Given the description of an element on the screen output the (x, y) to click on. 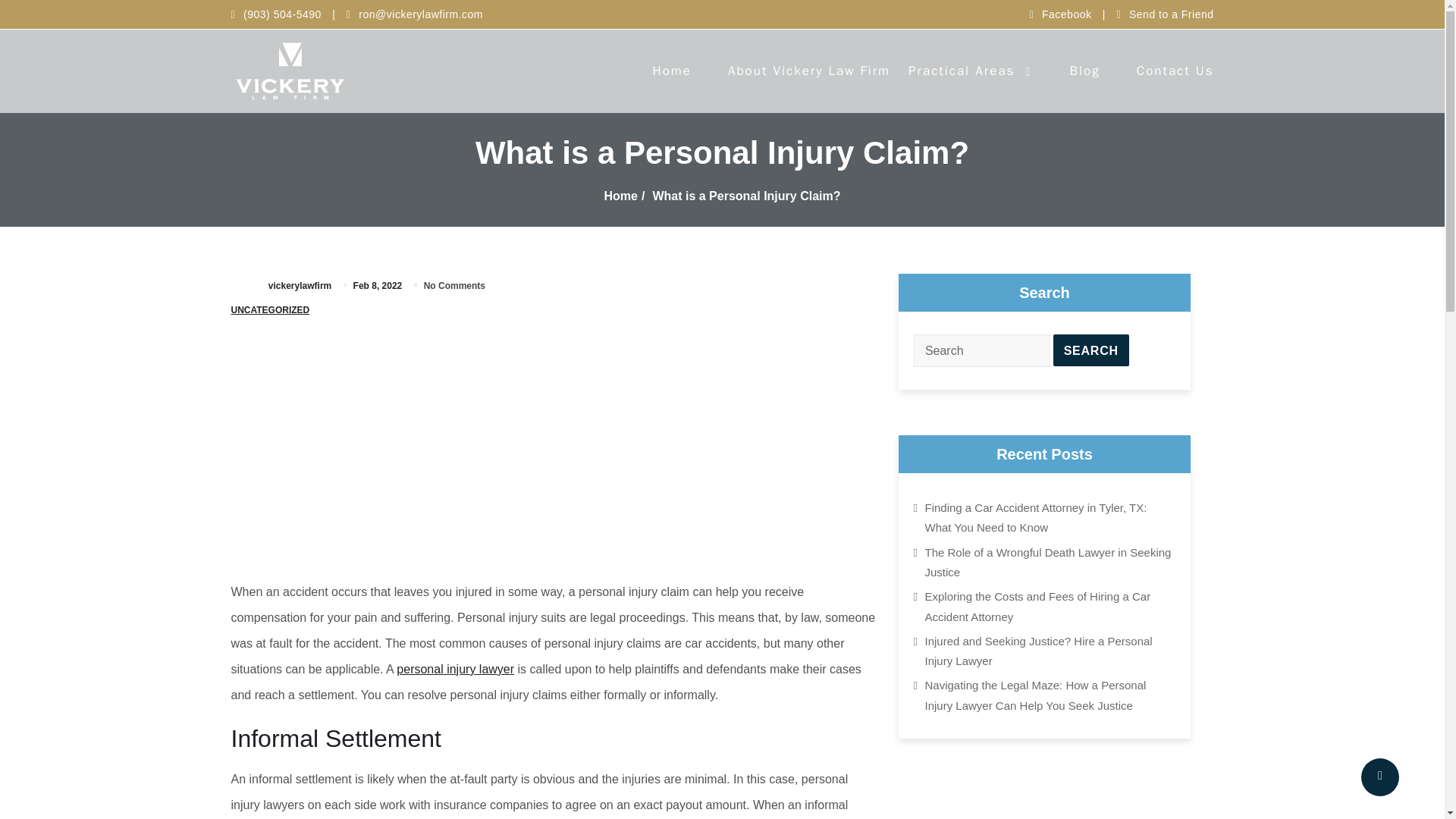
Practical Areas (961, 70)
What is a Personal Injury Claim? (746, 195)
Facebook (1072, 13)
Home (620, 195)
UNCATEGORIZED (269, 309)
vickerylawfirm (299, 285)
Search (1090, 350)
Search (1090, 350)
About Vickery Law Firm (808, 70)
Send to a Friend (1164, 13)
